Given the description of an element on the screen output the (x, y) to click on. 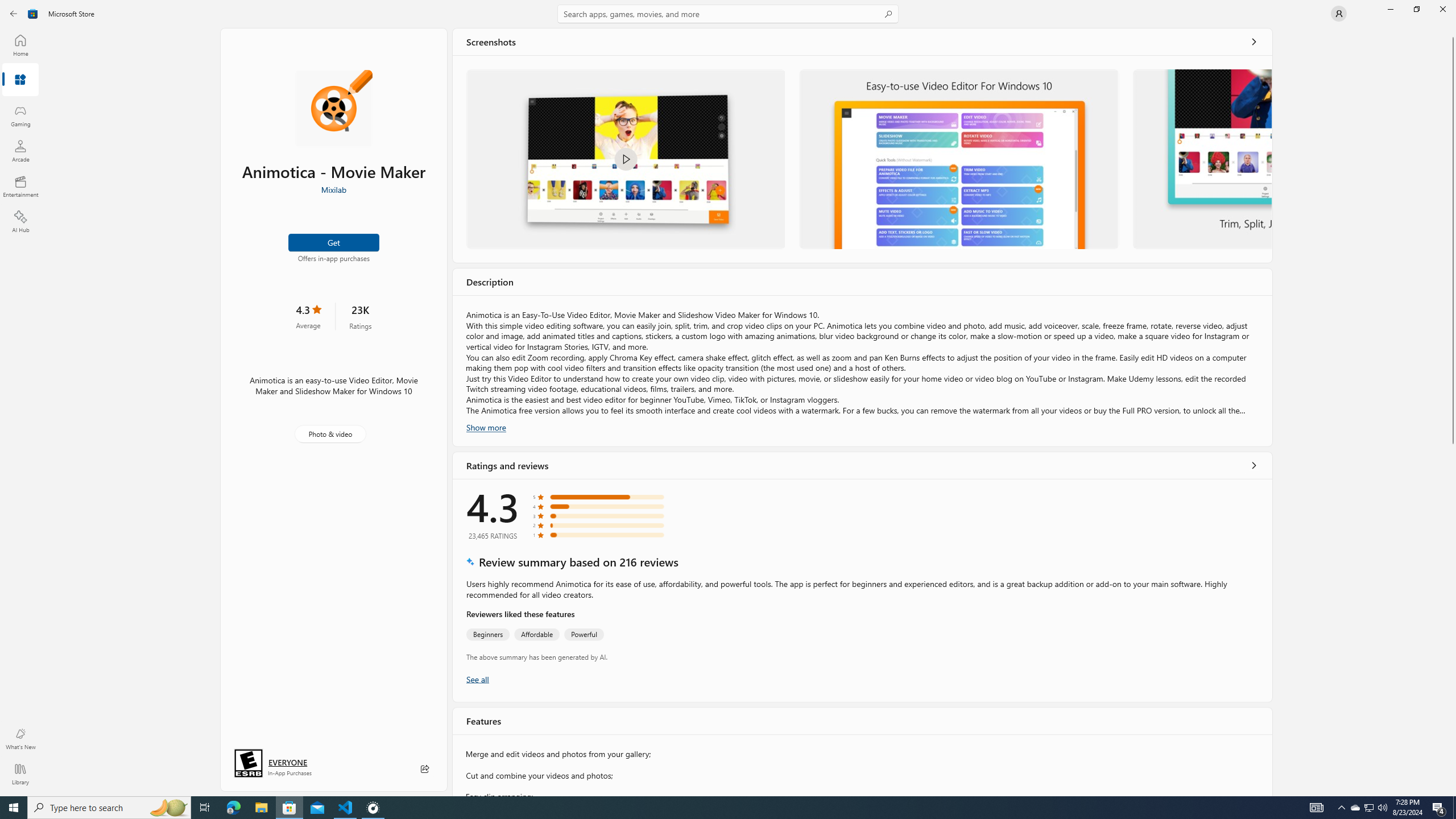
Show all ratings and reviews (477, 678)
AutomationID: NavigationControl (728, 398)
Age rating: EVERYONE. Click for more information. (287, 762)
Show more (485, 426)
Animotica is an easy-to-use video editor for Windows 10 (958, 158)
Vertical Small Decrease (1452, 31)
Back (13, 13)
Get (334, 241)
Vertical Large Increase (1452, 616)
Share (424, 769)
Search (727, 13)
